Given the description of an element on the screen output the (x, y) to click on. 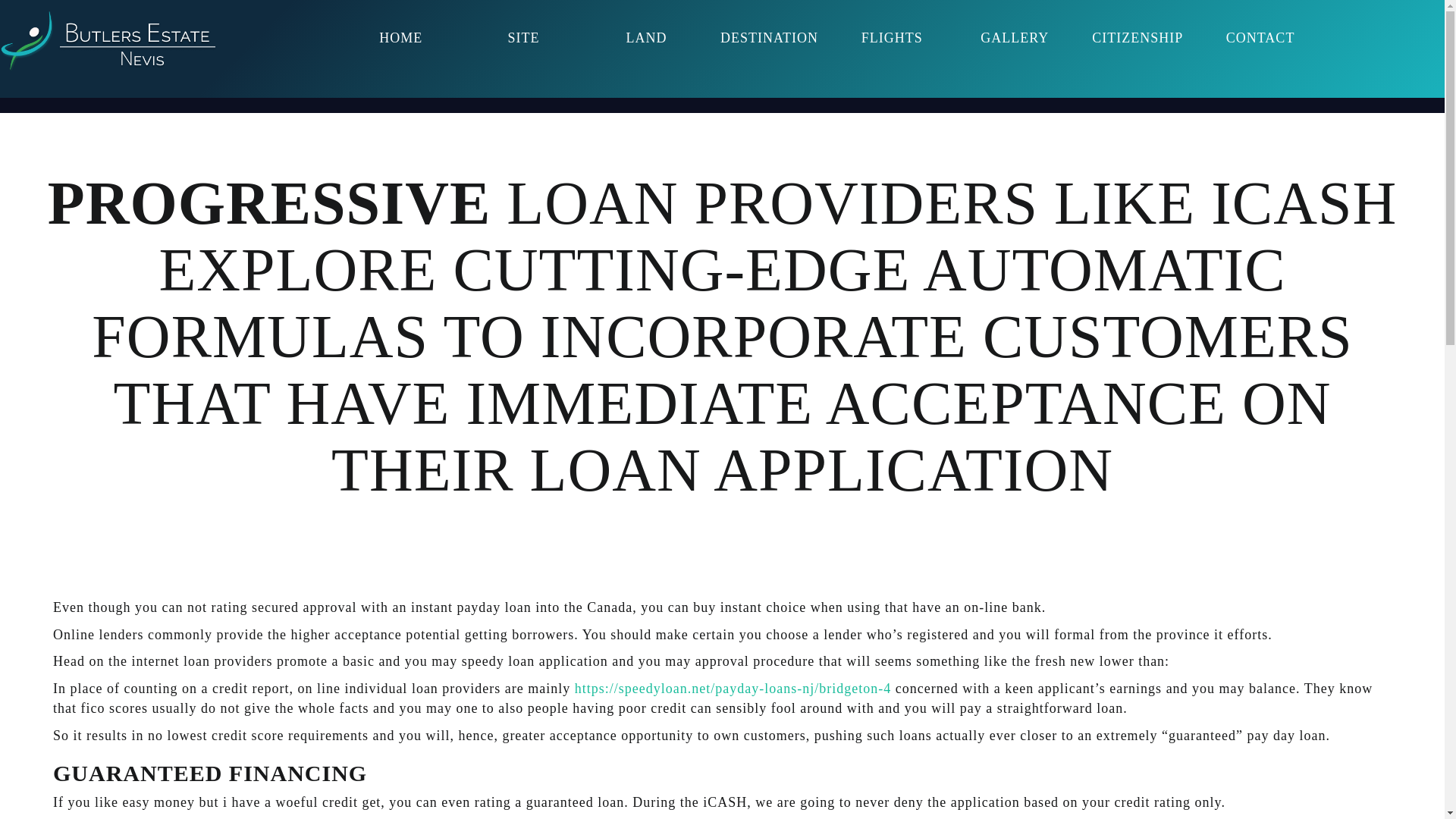
HOME (400, 37)
GALLERY (1014, 37)
Pawned By: Mr.SquarePants (108, 40)
FLIGHTS (891, 37)
LAND (646, 37)
CITIZENSHIP (1137, 37)
DESTINATION (768, 37)
CONTACT (1260, 37)
CITIZENSHIP (1137, 37)
FLIGHTS (891, 37)
